Given the description of an element on the screen output the (x, y) to click on. 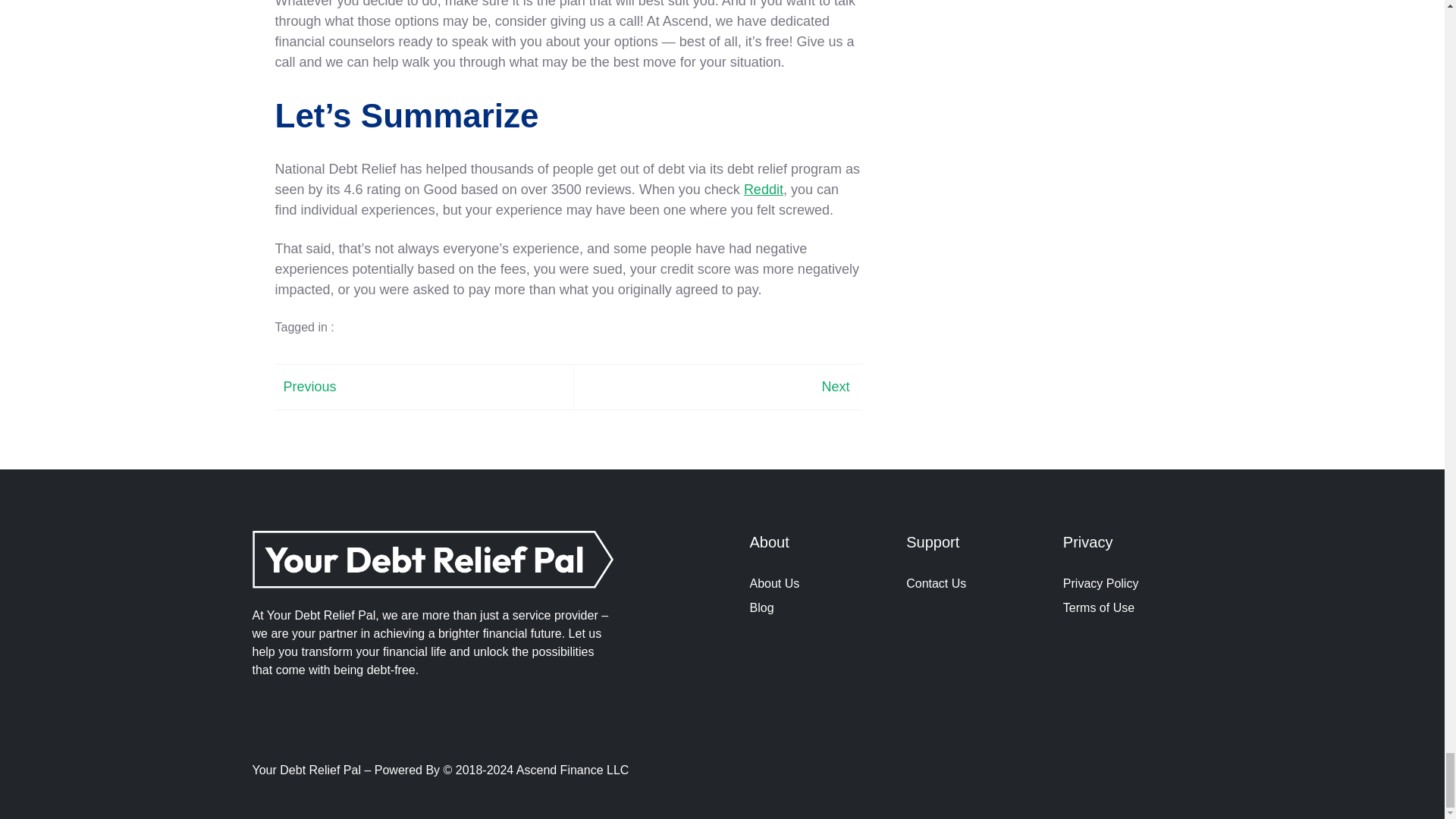
About Us (774, 583)
Reddit (763, 189)
Next (834, 386)
Previous (309, 386)
